Given the description of an element on the screen output the (x, y) to click on. 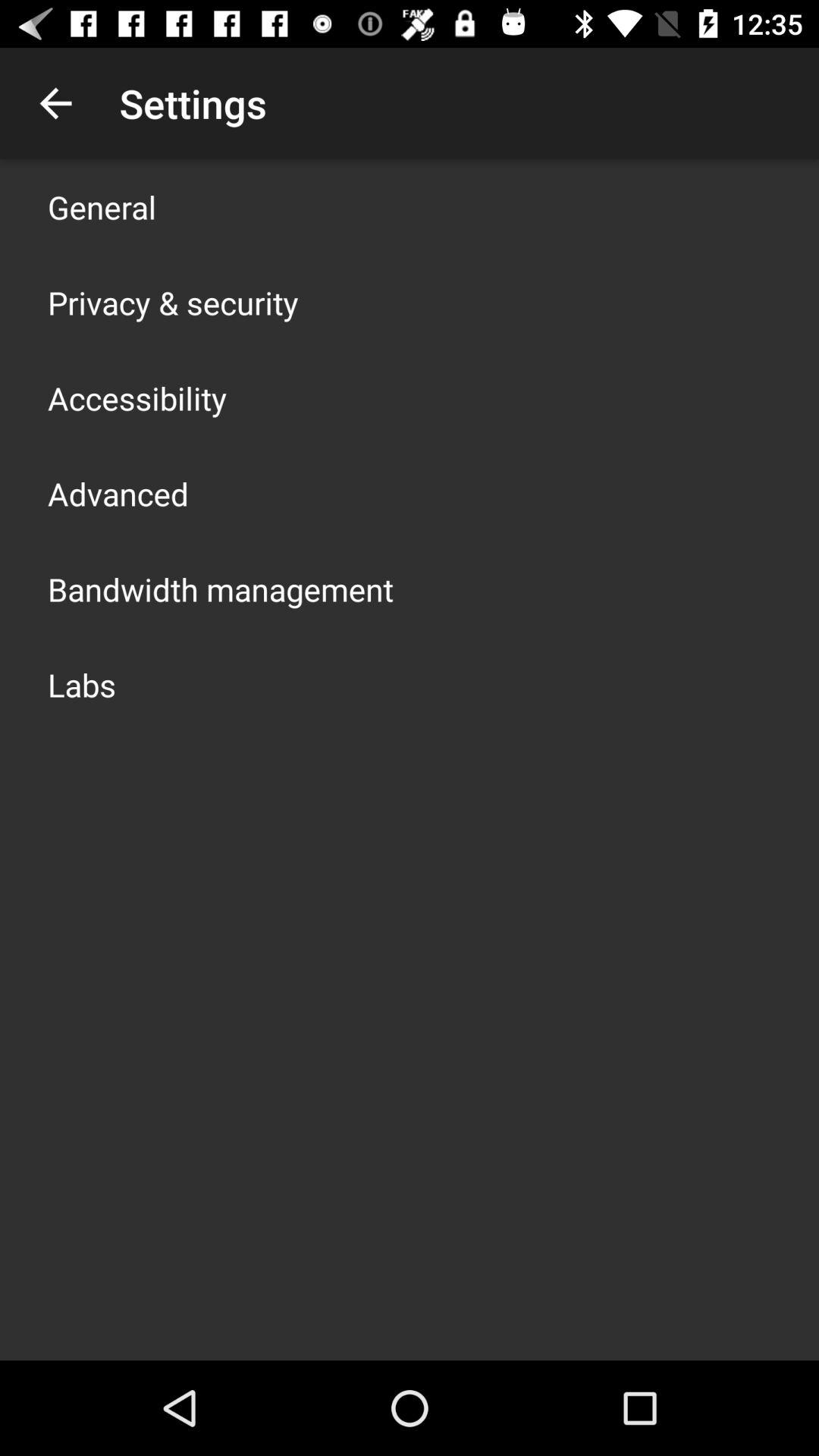
launch the app below the general (172, 302)
